Given the description of an element on the screen output the (x, y) to click on. 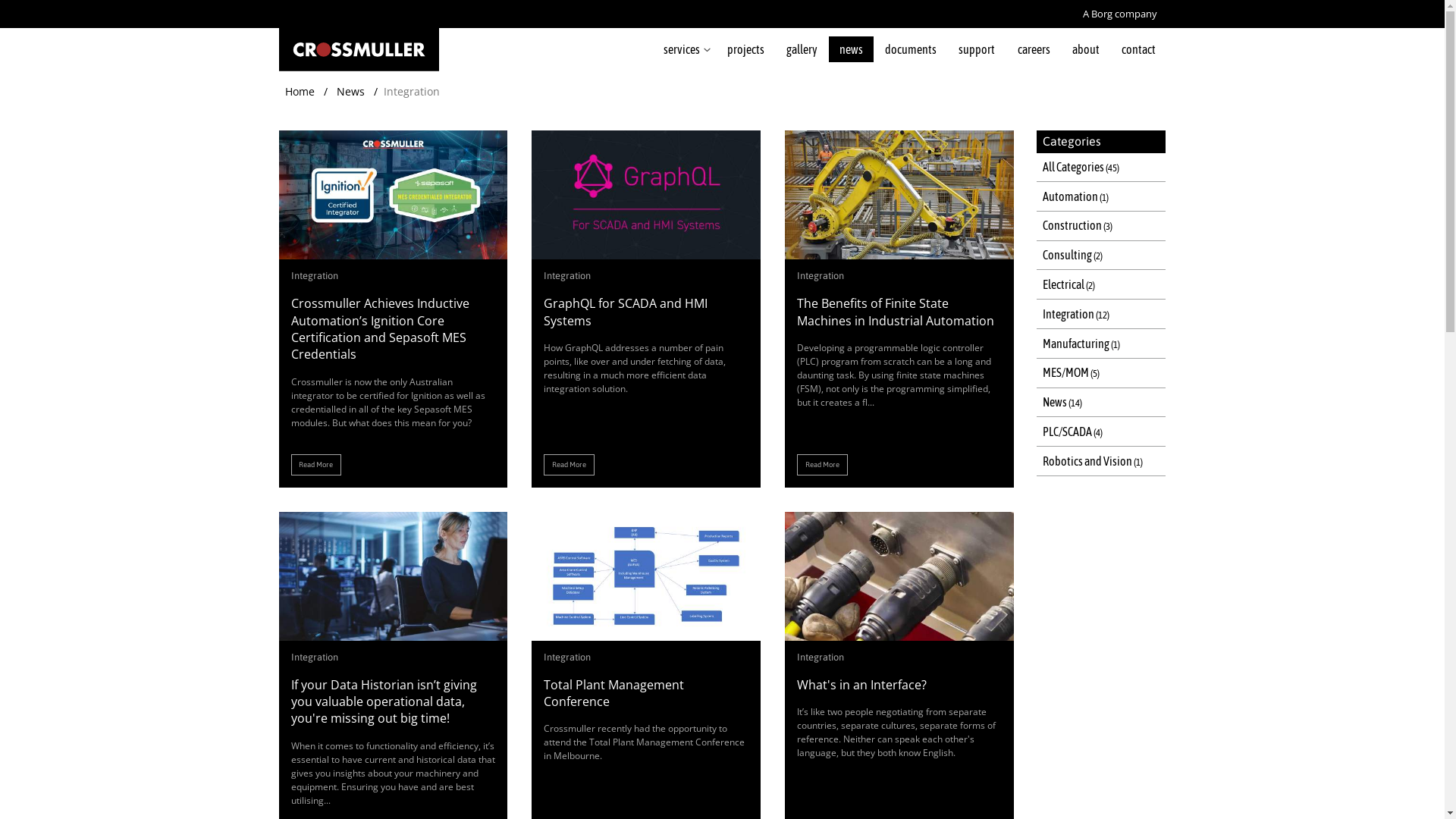
Integration Element type: text (820, 275)
News (14) Element type: text (1100, 402)
A Borg company Element type: text (1119, 14)
PLC/SCADA (4) Element type: text (1100, 432)
news Element type: text (850, 49)
Read More Element type: text (316, 464)
projects Element type: text (745, 49)
Read More Element type: text (822, 464)
Integration Element type: text (566, 275)
Integration Element type: text (820, 656)
about Element type: text (1085, 49)
contact Element type: text (1137, 49)
MES/MOM (5) Element type: text (1100, 373)
Integration Element type: text (566, 656)
Integration (12) Element type: text (1100, 314)
gallery Element type: text (801, 49)
News Element type: text (350, 91)
support Element type: text (976, 49)
careers Element type: text (1033, 49)
Construction (3) Element type: text (1100, 226)
Integration Element type: text (314, 656)
Read More Element type: text (568, 464)
Manufacturing (1) Element type: text (1100, 343)
All Categories (45) Element type: text (1100, 167)
Integration Element type: text (314, 275)
services Element type: text (683, 49)
Home Element type: text (299, 91)
Automation (1) Element type: text (1100, 196)
Consulting (2) Element type: text (1100, 255)
documents Element type: text (911, 49)
Robotics and Vision (1) Element type: text (1100, 461)
Electrical (2) Element type: text (1100, 285)
